Given the description of an element on the screen output the (x, y) to click on. 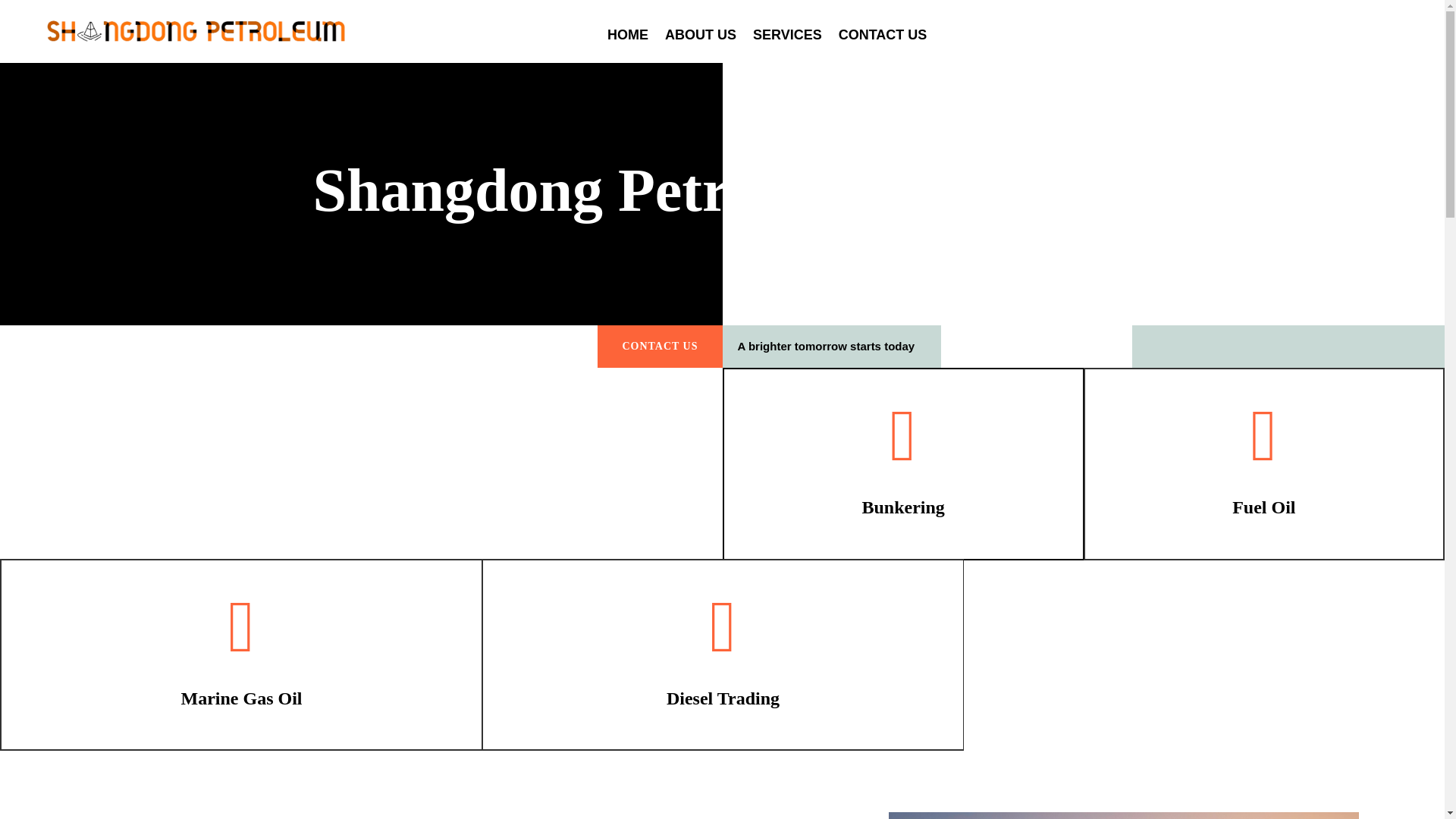
HOME (627, 37)
CONTACT US (659, 346)
shangdong-removebg (204, 31)
Oil,And,Gas,Transportation,By,Truck (1123, 815)
CONTACT US (882, 37)
ABOUT US (700, 37)
SERVICES (787, 37)
